Given the description of an element on the screen output the (x, y) to click on. 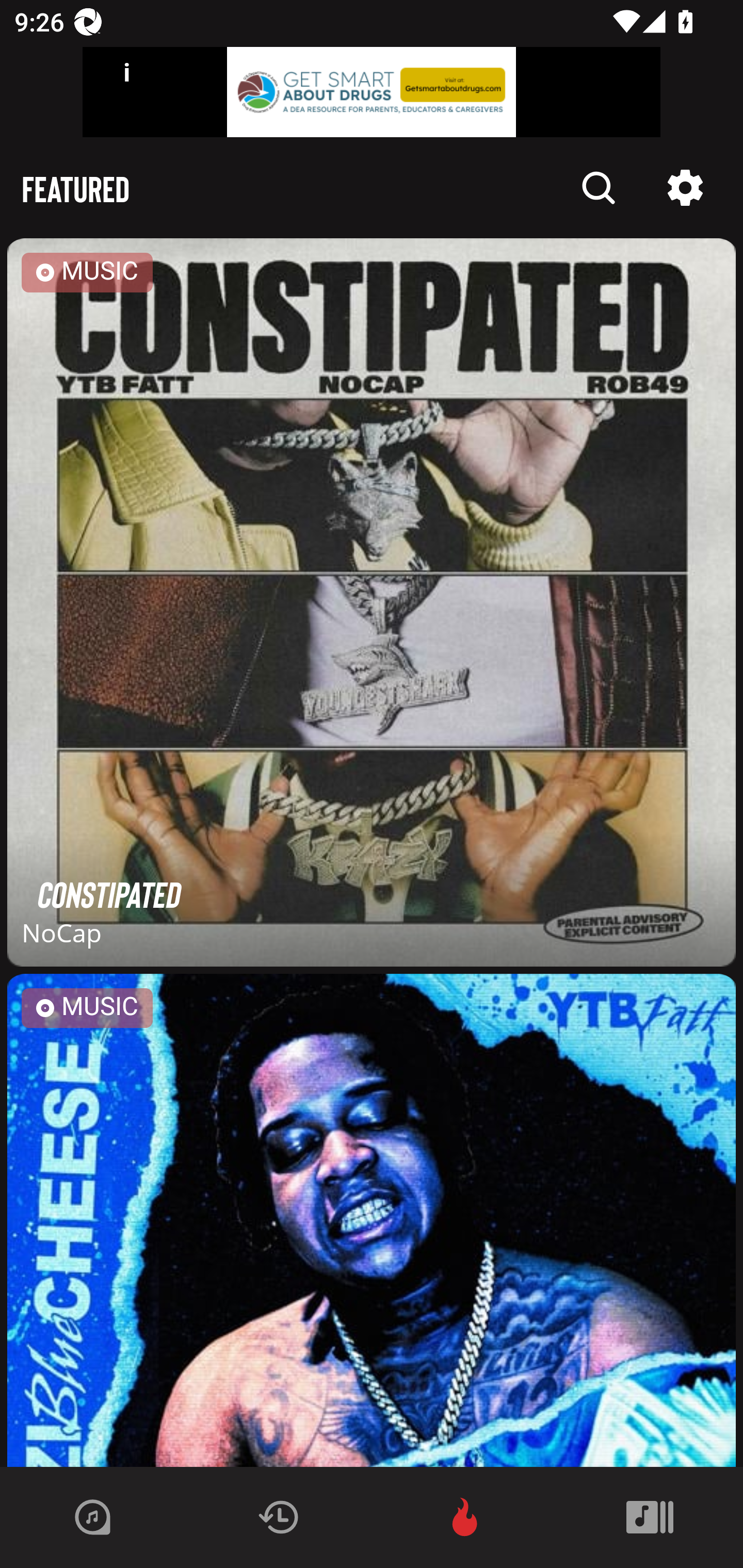
Description (598, 188)
Description (684, 188)
Description MUSIC Constipated NoCap (371, 605)
Description MUSIC (371, 1220)
